Given the description of an element on the screen output the (x, y) to click on. 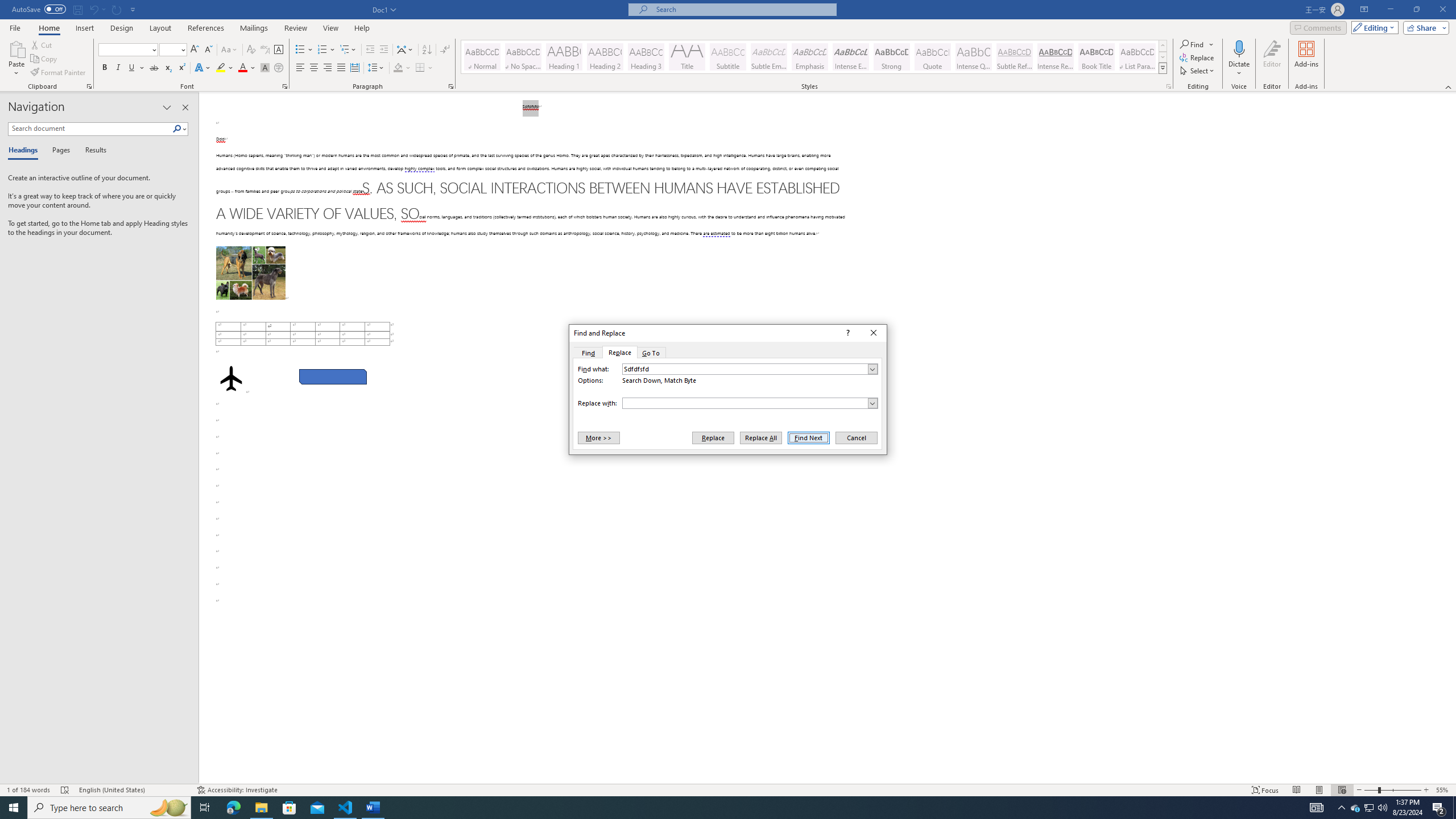
Font Color (246, 67)
Action Center, 2 new notifications (1439, 807)
Font (124, 49)
Microsoft search (742, 9)
Read Mode (1296, 790)
Search (177, 128)
Undo Paragraph Alignment (96, 9)
References (205, 28)
Task Pane Options (167, 107)
Underline (136, 67)
Save (77, 9)
Subtle Emphasis (768, 56)
Q2790: 100% (1382, 807)
Word - 1 running window (373, 807)
Editor (1272, 58)
